Given the description of an element on the screen output the (x, y) to click on. 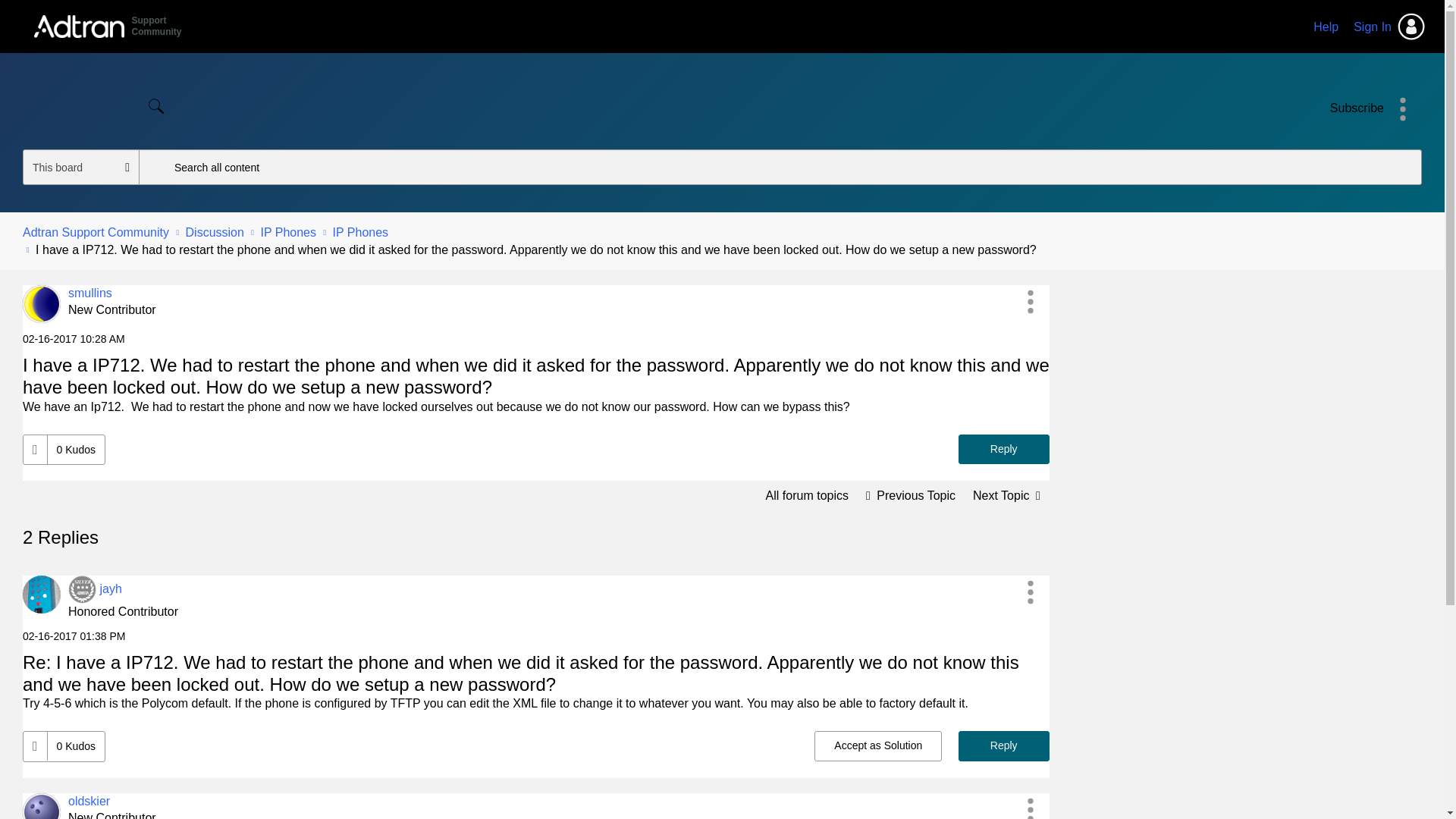
Sign In (1388, 26)
Search (155, 105)
Show option menu (1403, 108)
Search (780, 167)
smullins (90, 292)
Help (1325, 26)
The total number of kudos this post has received. (75, 449)
Adtran Support Community (95, 232)
IP Phones (807, 495)
Click here to give kudos to this post. (34, 449)
Posted on (536, 338)
Reply (1003, 449)
Search (155, 105)
Show option menu (1030, 301)
